Given the description of an element on the screen output the (x, y) to click on. 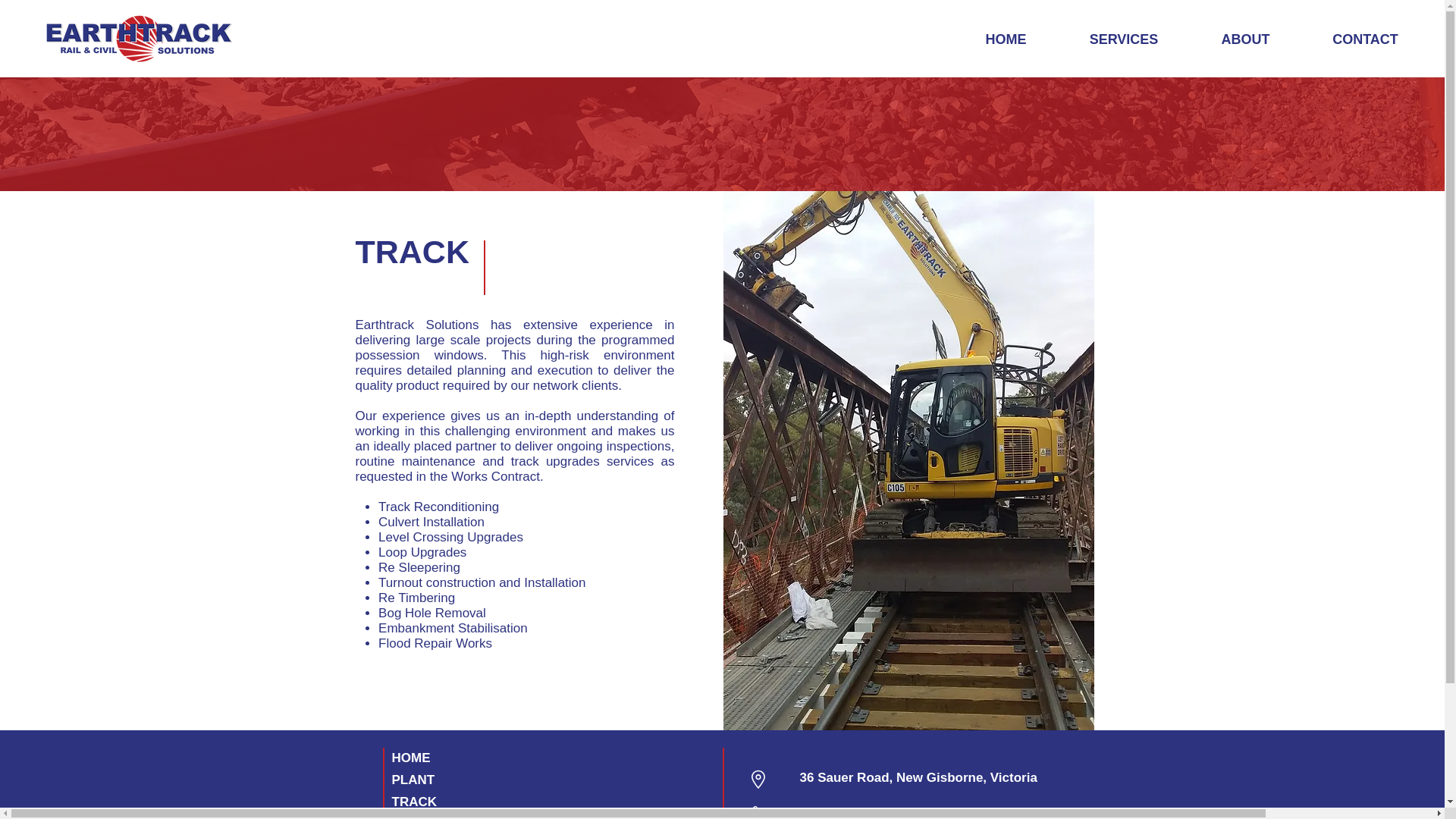
ABOUT Element type: text (1245, 39)
CONTACT Element type: text (1365, 39)
HOME Element type: text (1005, 39)
LOGO.png Element type: hover (139, 38)
